Given the description of an element on the screen output the (x, y) to click on. 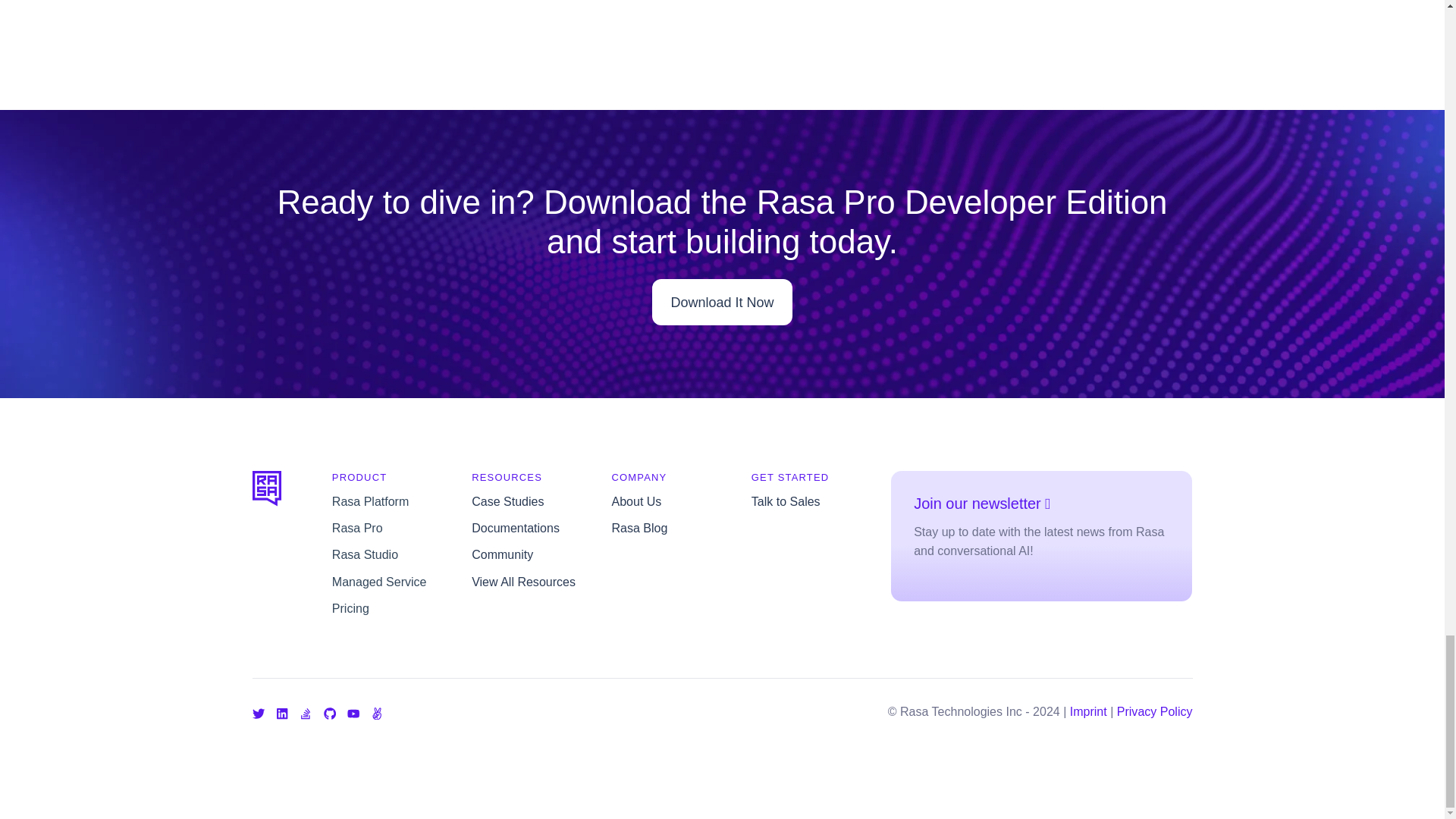
HubSpot Video (722, 36)
Rasa Studio (364, 554)
Managed Service (378, 581)
Rasa Pro (356, 527)
Download It Now (722, 302)
Pricing (350, 608)
Rasa Platform (370, 500)
